Given the description of an element on the screen output the (x, y) to click on. 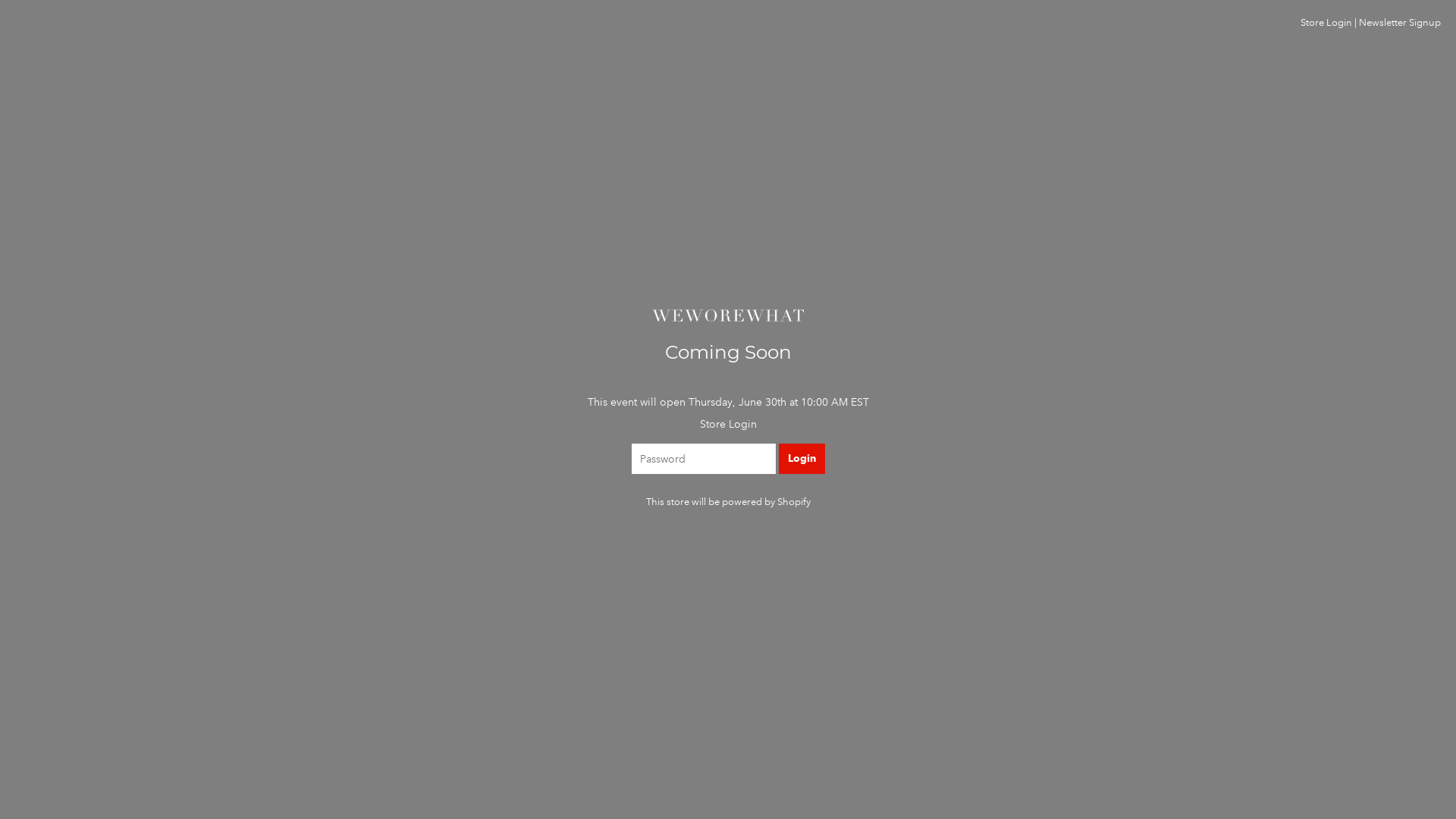
Login Element type: text (801, 458)
Shopify Element type: text (792, 501)
Store Login Element type: text (1326, 22)
Newsletter Signup Element type: text (1399, 22)
